Given the description of an element on the screen output the (x, y) to click on. 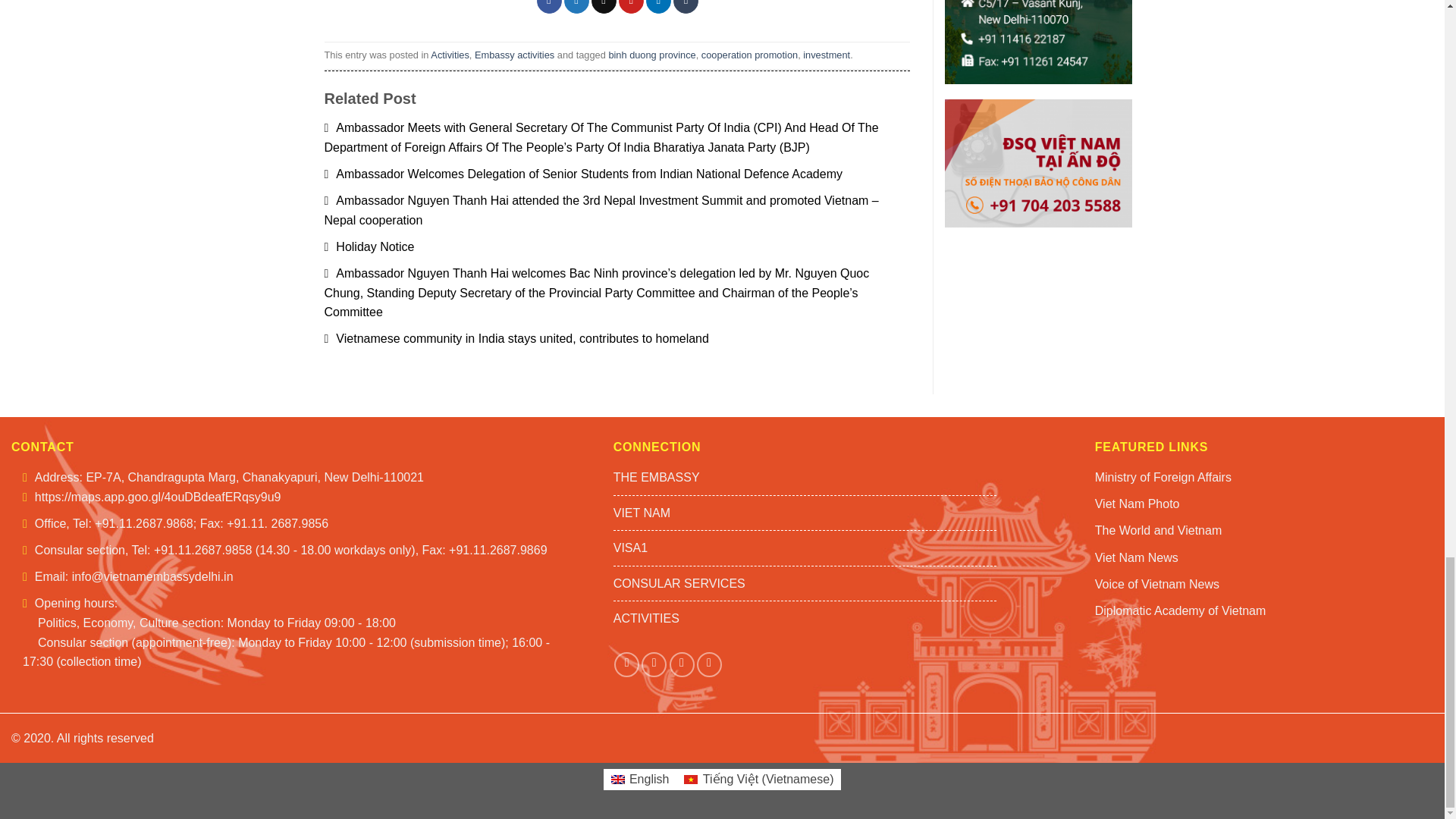
Holiday Notice (369, 246)
